Given the description of an element on the screen output the (x, y) to click on. 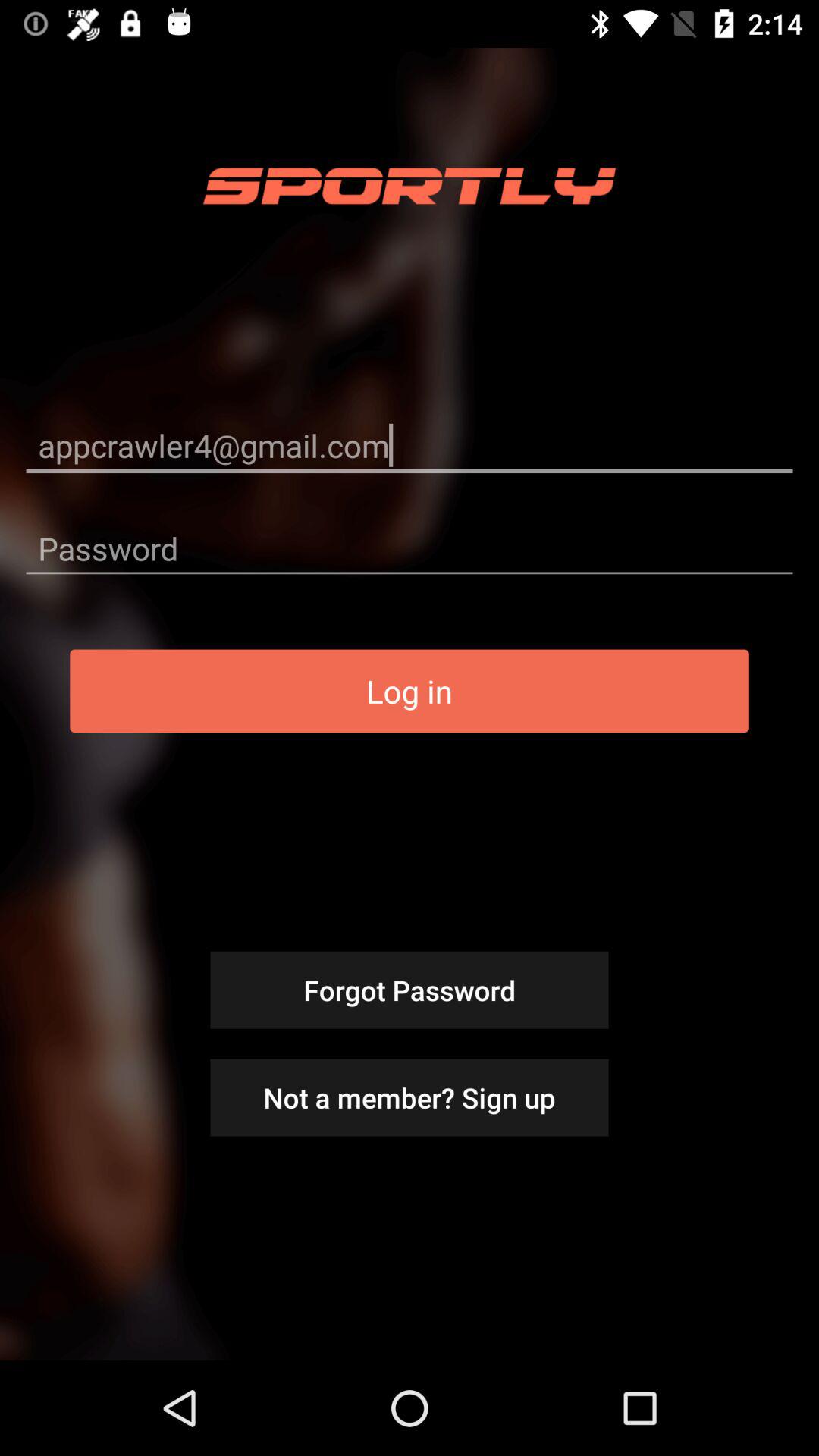
tap item above forgot password (409, 690)
